Given the description of an element on the screen output the (x, y) to click on. 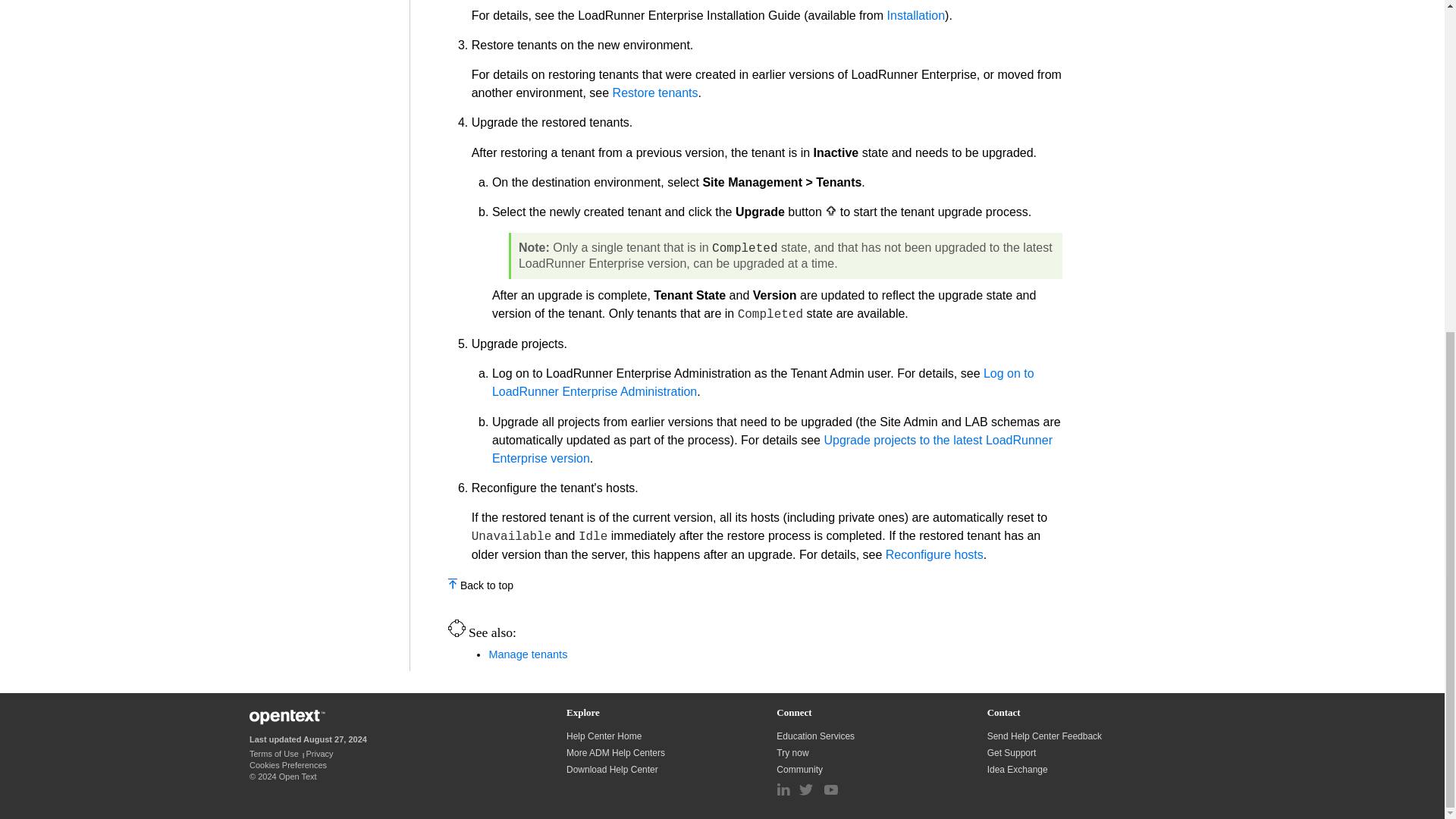
Installation (915, 15)
Back to top (486, 585)
Community (800, 769)
Restore tenants (655, 92)
More ADM Help Centers (616, 752)
Education Services (816, 736)
Upgrade projects to the latest LoadRunner Enterprise version (772, 449)
Download Help Center (612, 769)
Reconfigure hosts (934, 554)
Send Help Center Feedback (1044, 736)
